Given the description of an element on the screen output the (x, y) to click on. 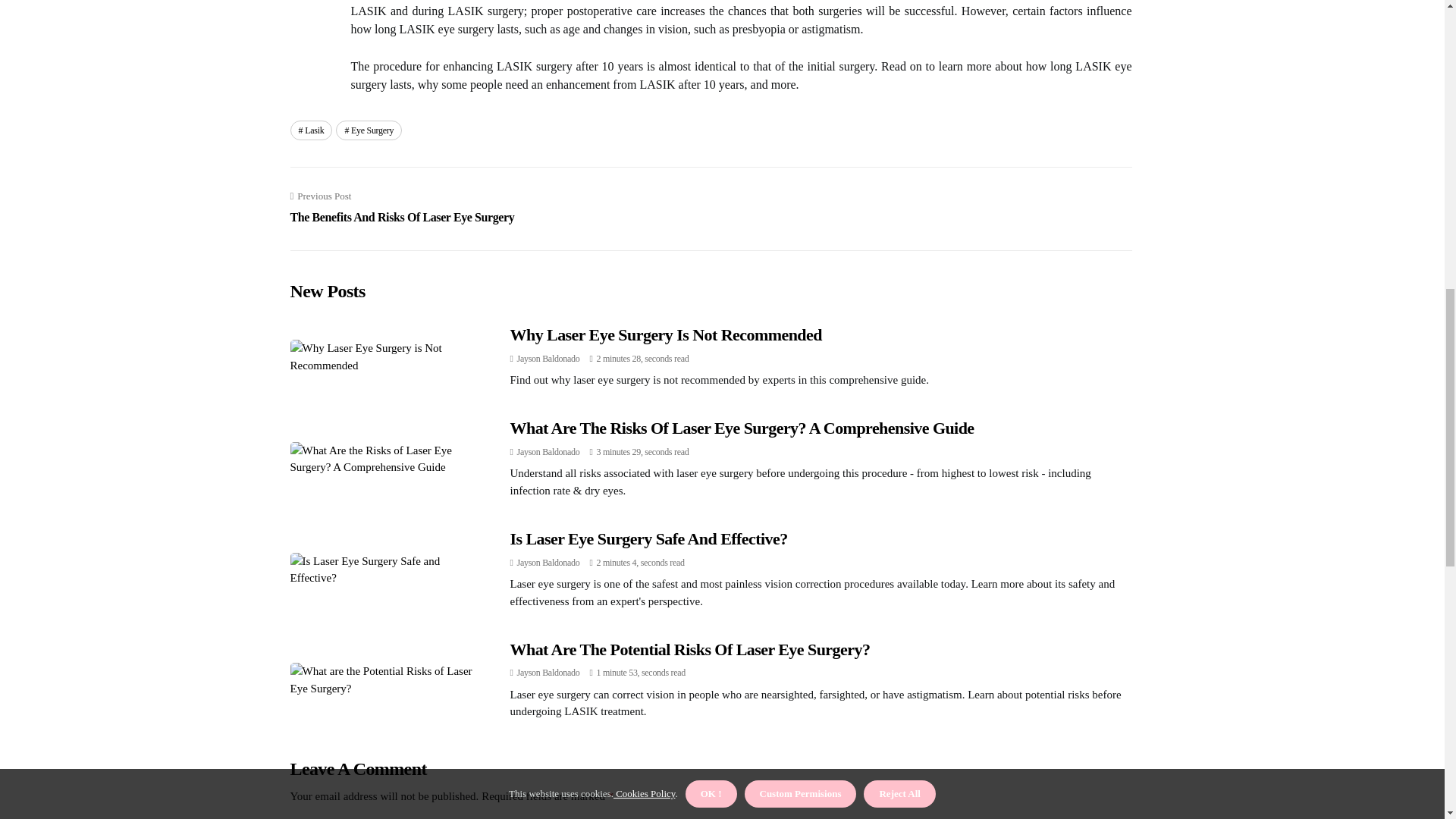
Posts by Jayson Baldonado (547, 357)
Lasik (310, 130)
Is Laser Eye Surgery Safe And Effective? (648, 538)
Posts by Jayson Baldonado (547, 672)
What Are The Potential Risks Of Laser Eye Surgery? (401, 207)
Jayson Baldonado (689, 649)
Jayson Baldonado (547, 562)
Eye Surgery (547, 357)
Jayson Baldonado (368, 130)
